Given the description of an element on the screen output the (x, y) to click on. 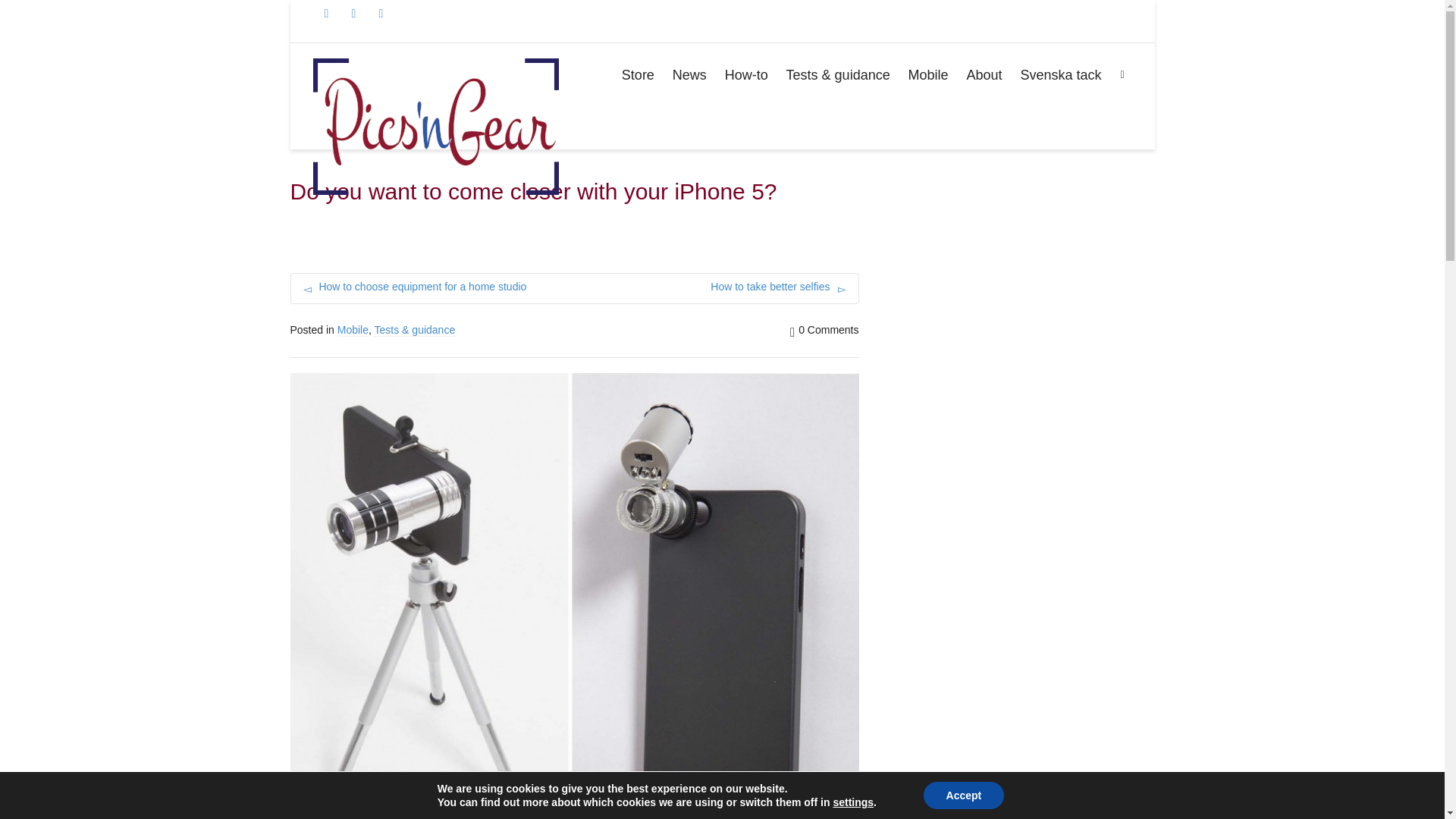
About (983, 76)
How to take better selfies (717, 288)
settings (852, 802)
Store (637, 76)
Mobile (352, 329)
Accept (963, 795)
0 Comments (824, 329)
News (689, 76)
Mobile (928, 76)
Svenska tack (1060, 76)
